Given the description of an element on the screen output the (x, y) to click on. 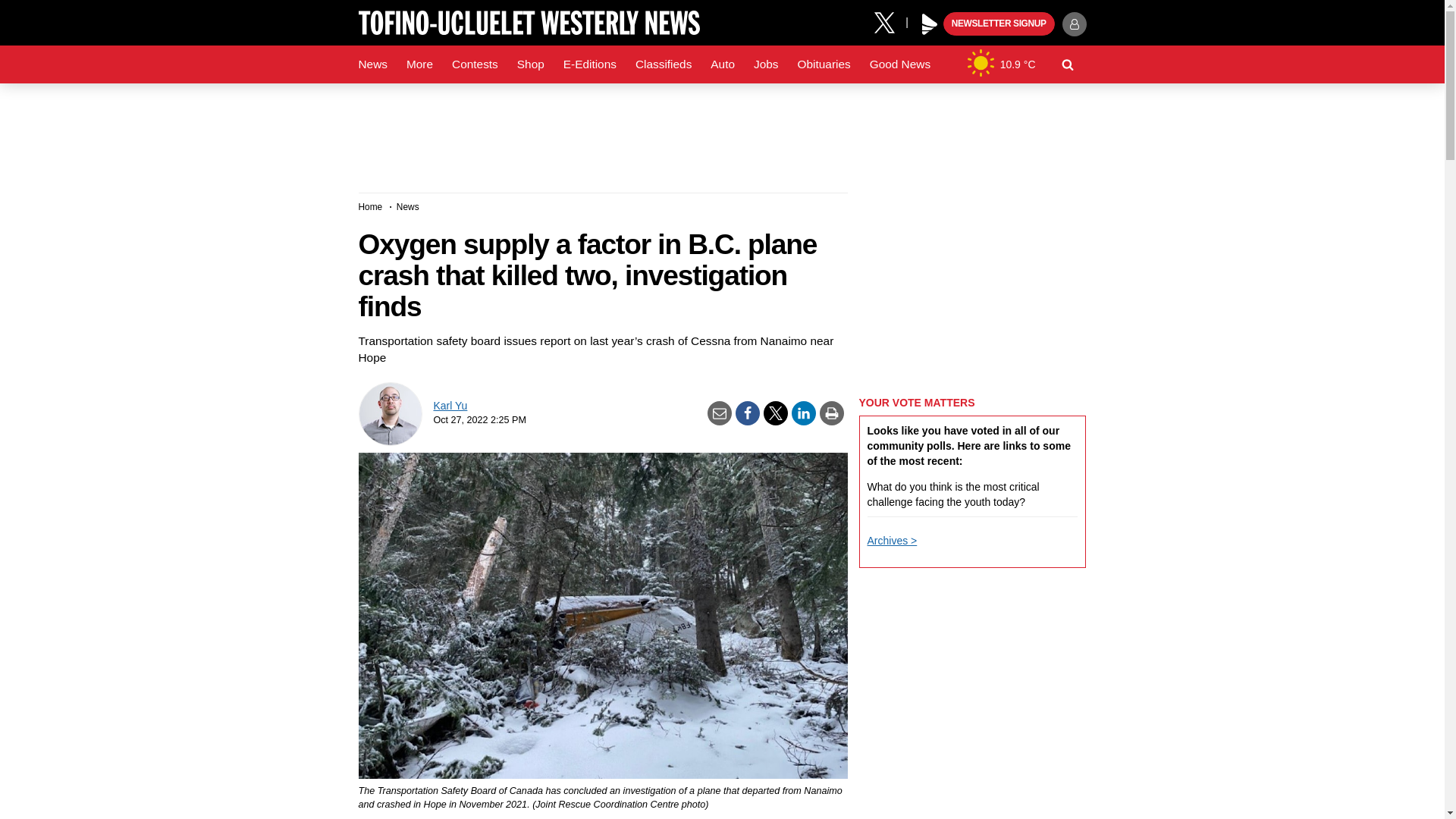
3rd party ad content (721, 131)
Play (929, 24)
News (372, 64)
Black Press Media (929, 24)
NEWSLETTER SIGNUP (998, 24)
X (889, 21)
